Given the description of an element on the screen output the (x, y) to click on. 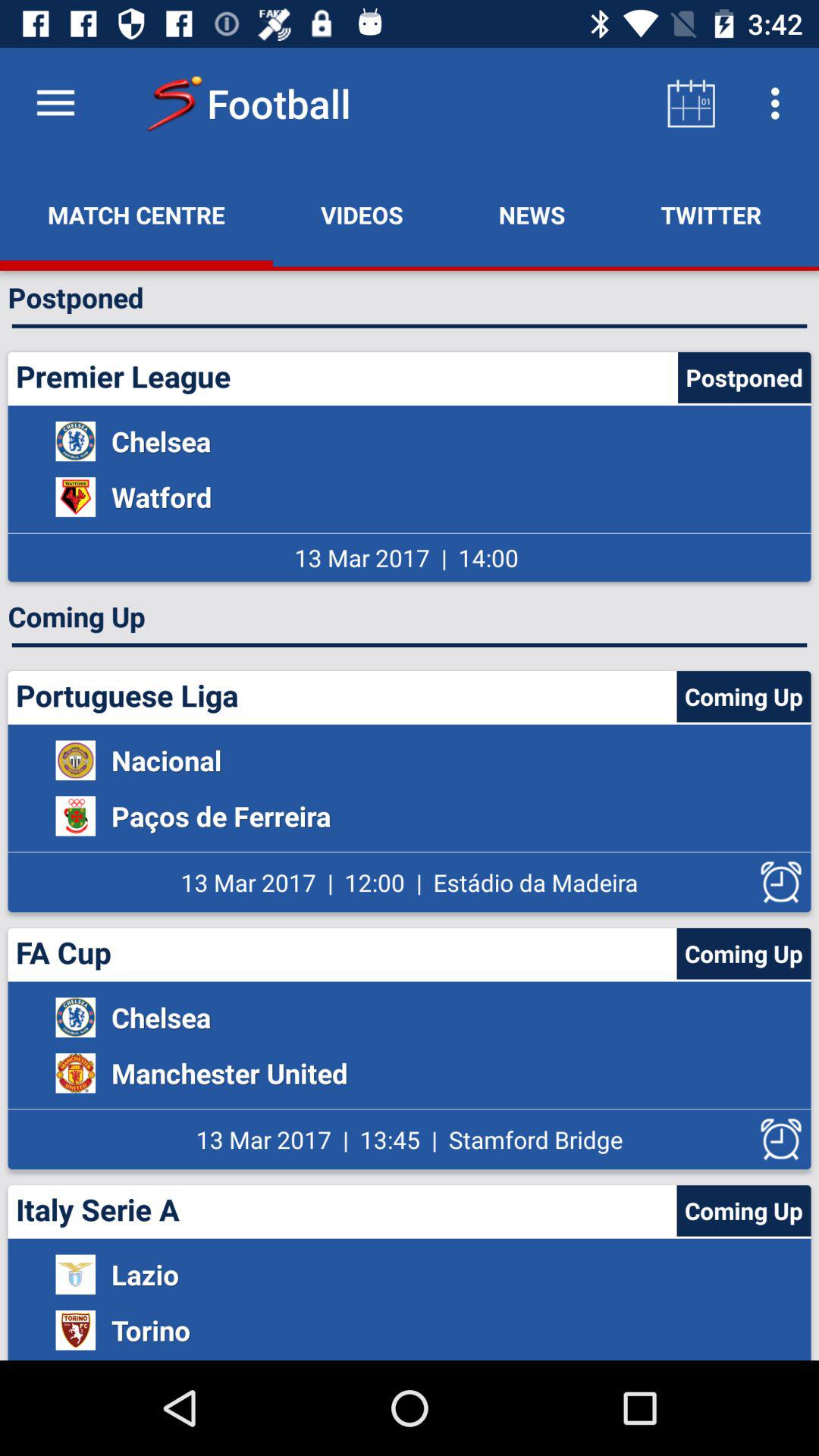
select the item next to the videos app (136, 214)
